Given the description of an element on the screen output the (x, y) to click on. 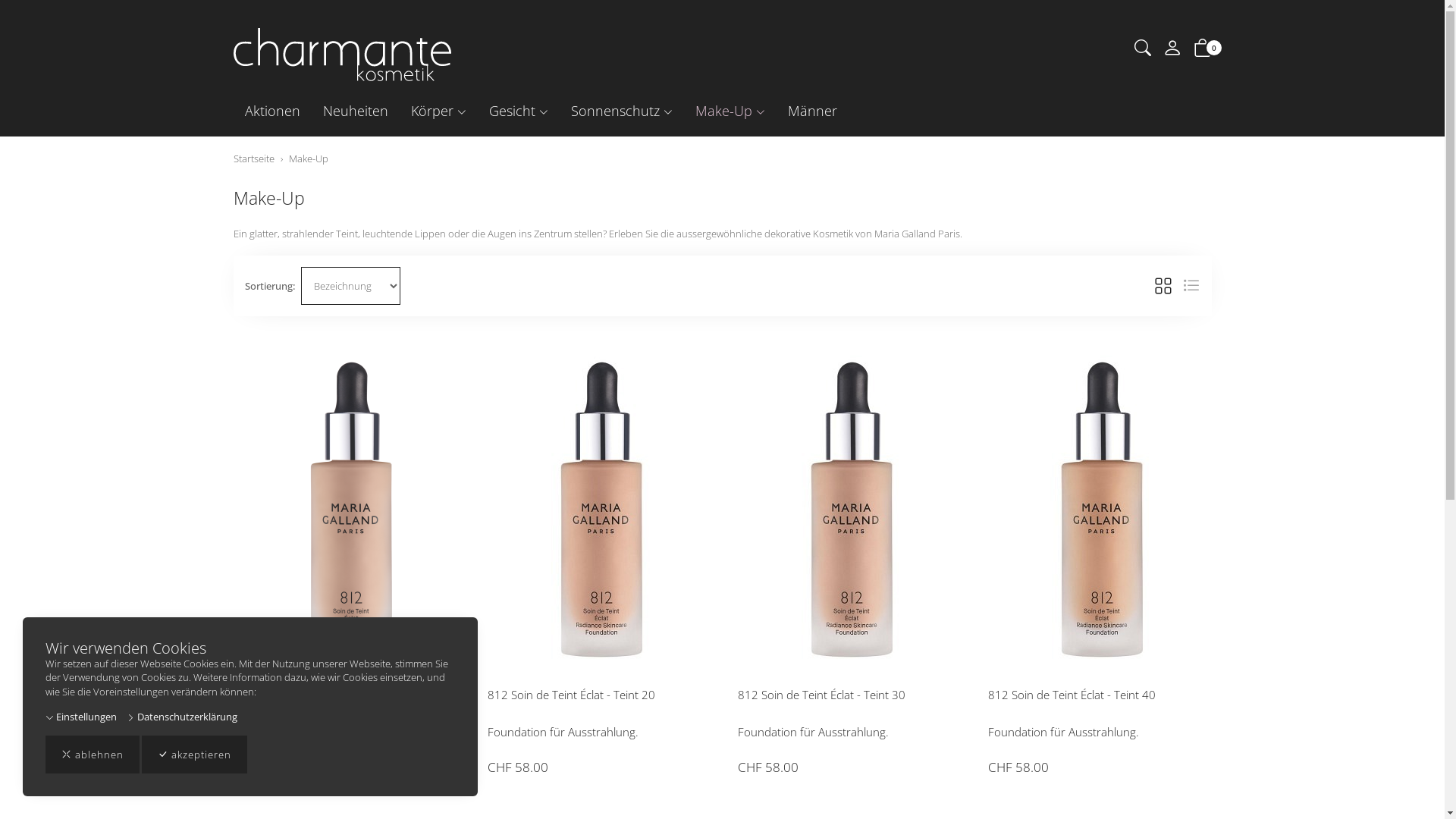
Startseite Element type: text (253, 158)
Neuheiten Element type: text (354, 110)
0 Element type: text (1202, 50)
Gesicht Element type: text (518, 110)
akzeptieren Element type: text (194, 754)
Make-Up Element type: text (730, 110)
Make-Up Element type: text (268, 197)
Kachelansicht Element type: hover (1163, 285)
Sonnenschutz Element type: text (621, 110)
Listenansicht Element type: hover (1190, 285)
Mein Konto Element type: hover (1171, 51)
Aktionen Element type: text (272, 110)
Suche Element type: hover (1142, 49)
ablehnen Element type: text (92, 754)
Make-Up Element type: text (307, 158)
Einstellungen Element type: text (80, 716)
